Given the description of an element on the screen output the (x, y) to click on. 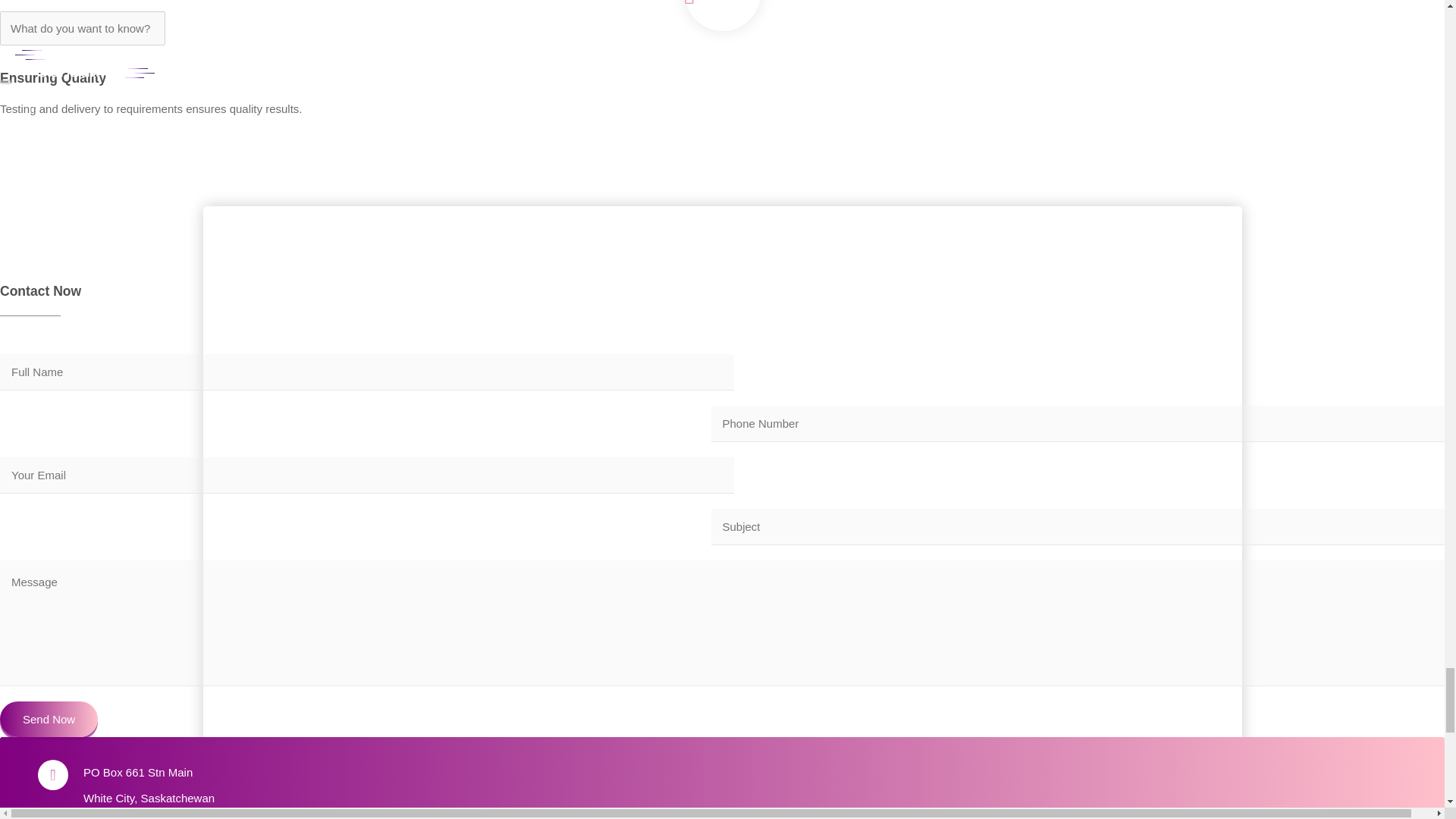
Send Now (48, 719)
